Given the description of an element on the screen output the (x, y) to click on. 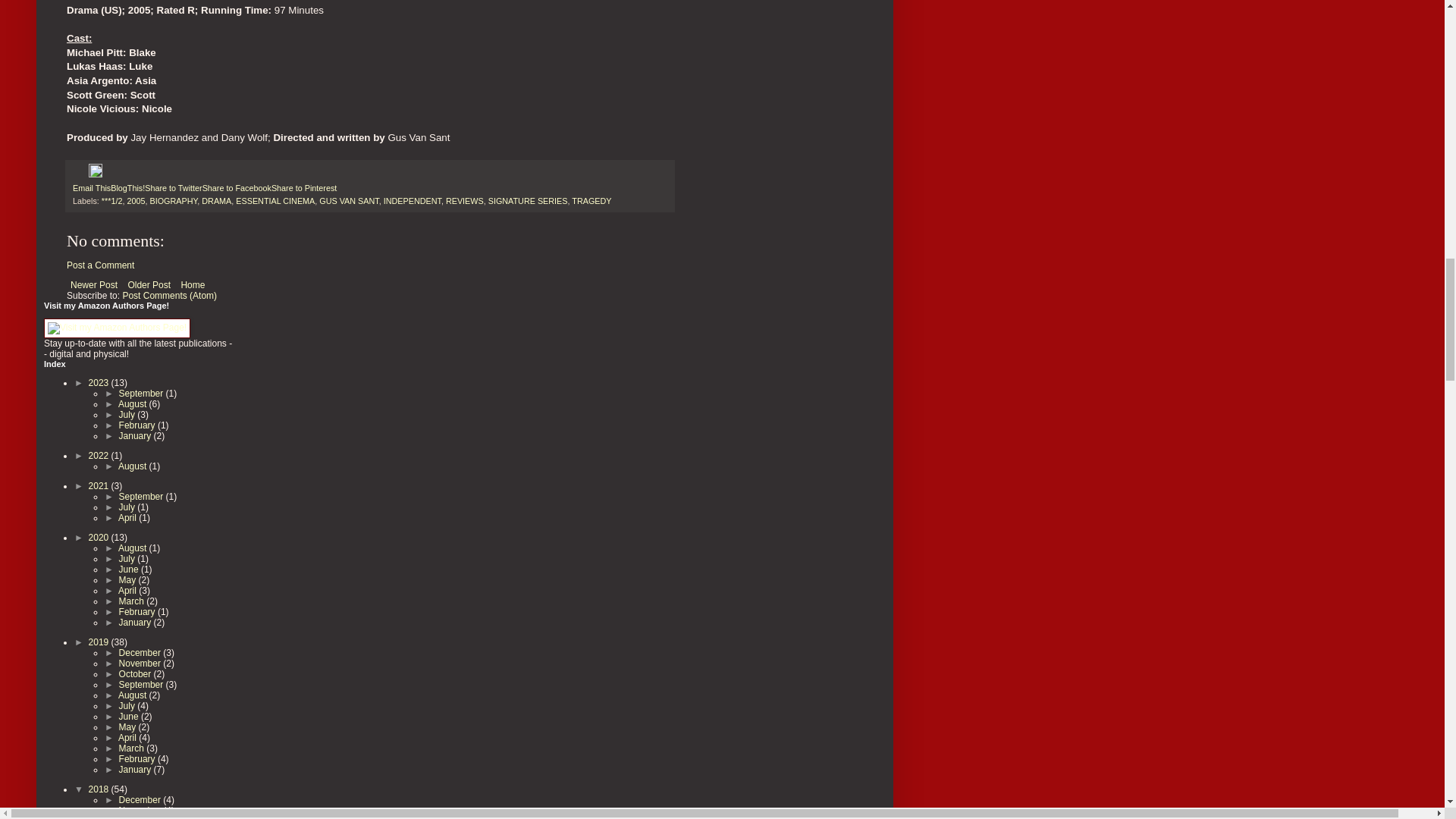
BlogThis! (127, 187)
Home (192, 285)
REVIEWS (464, 200)
Older Post (148, 285)
Share to Pinterest (303, 187)
Share to Twitter (173, 187)
Share to Twitter (173, 187)
Post a Comment (99, 265)
Email This (91, 187)
BIOGRAPHY (172, 200)
INDEPENDENT (412, 200)
TRAGEDY (591, 200)
Edit Post (94, 174)
DRAMA (216, 200)
Email This (91, 187)
